Given the description of an element on the screen output the (x, y) to click on. 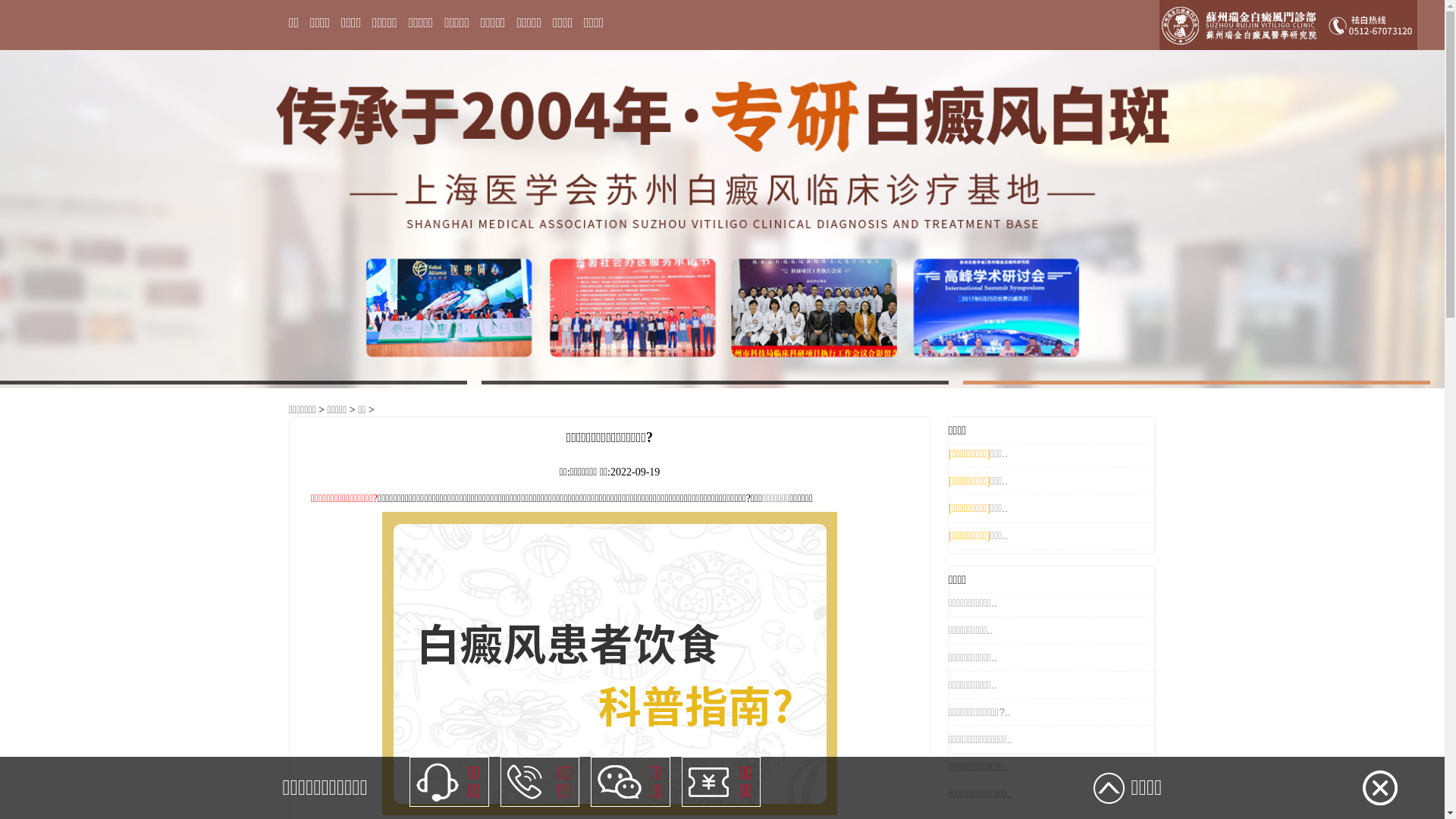
banner1 Element type: hover (722, 218)
